Given the description of an element on the screen output the (x, y) to click on. 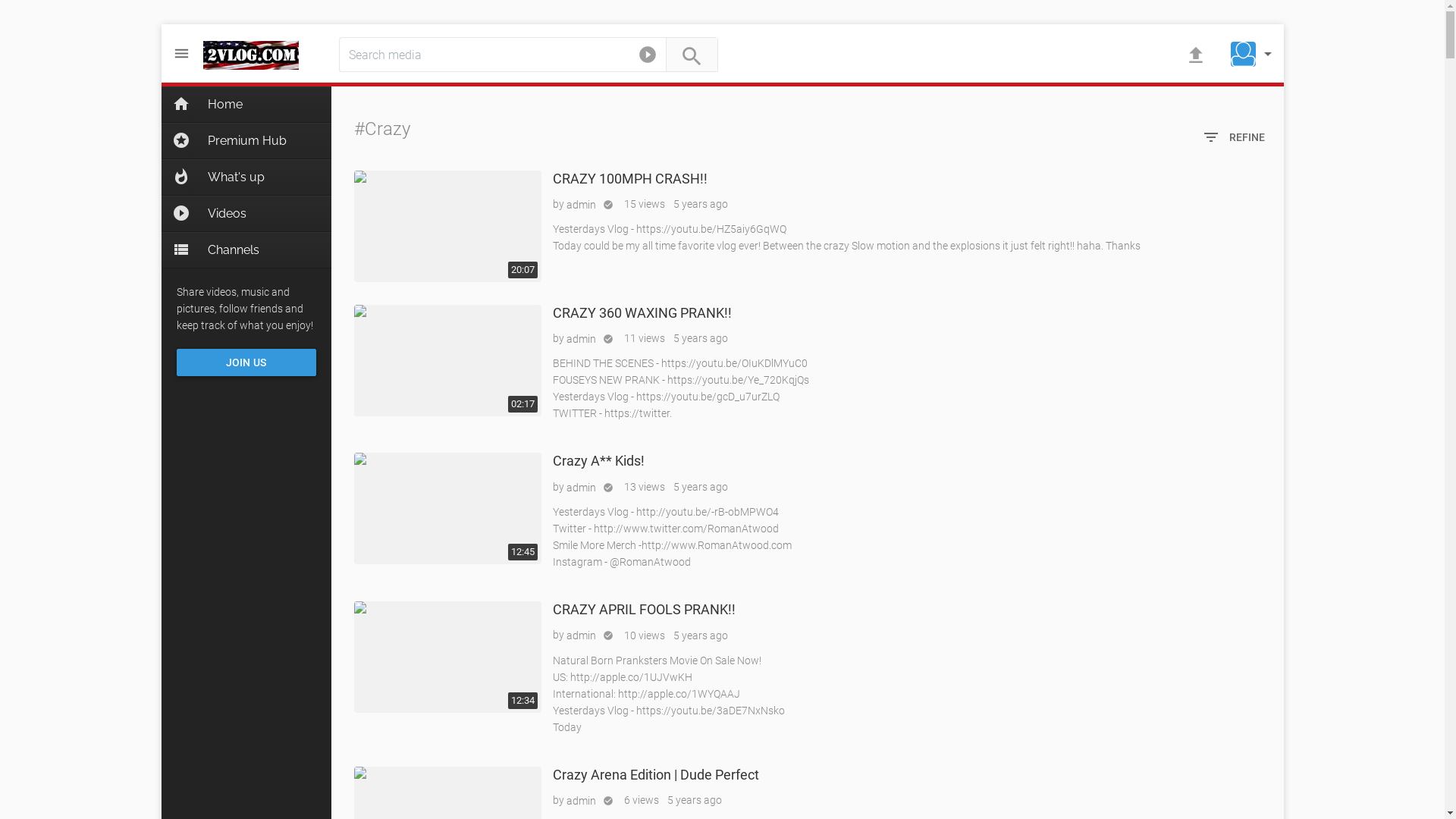
CRAZY APRIL FOOLS PRANK!! Element type: hover (446, 656)
CRAZY 360 WAXING PRANK!! Element type: text (641, 312)
Crazy A** Kids! Element type: hover (446, 508)
admin Element type: text (580, 338)
admin Element type: text (580, 204)
admin Element type: text (580, 635)
CRAZY 100MPH CRASH!! Element type: text (629, 178)
Crazy A** Kids! Element type: text (597, 460)
CRAZY 360 WAXING PRANK!! Element type: hover (446, 360)
CRAZY 100MPH CRASH!! Element type: hover (446, 226)
Crazy Arena Edition | Dude Perfect Element type: text (655, 774)
admin Element type: text (580, 487)
Guest Element type: hover (1242, 53)
CRAZY APRIL FOOLS PRANK!! Element type: text (643, 609)
admin Element type: text (580, 800)
JOIN US Element type: text (245, 362)
